Given the description of an element on the screen output the (x, y) to click on. 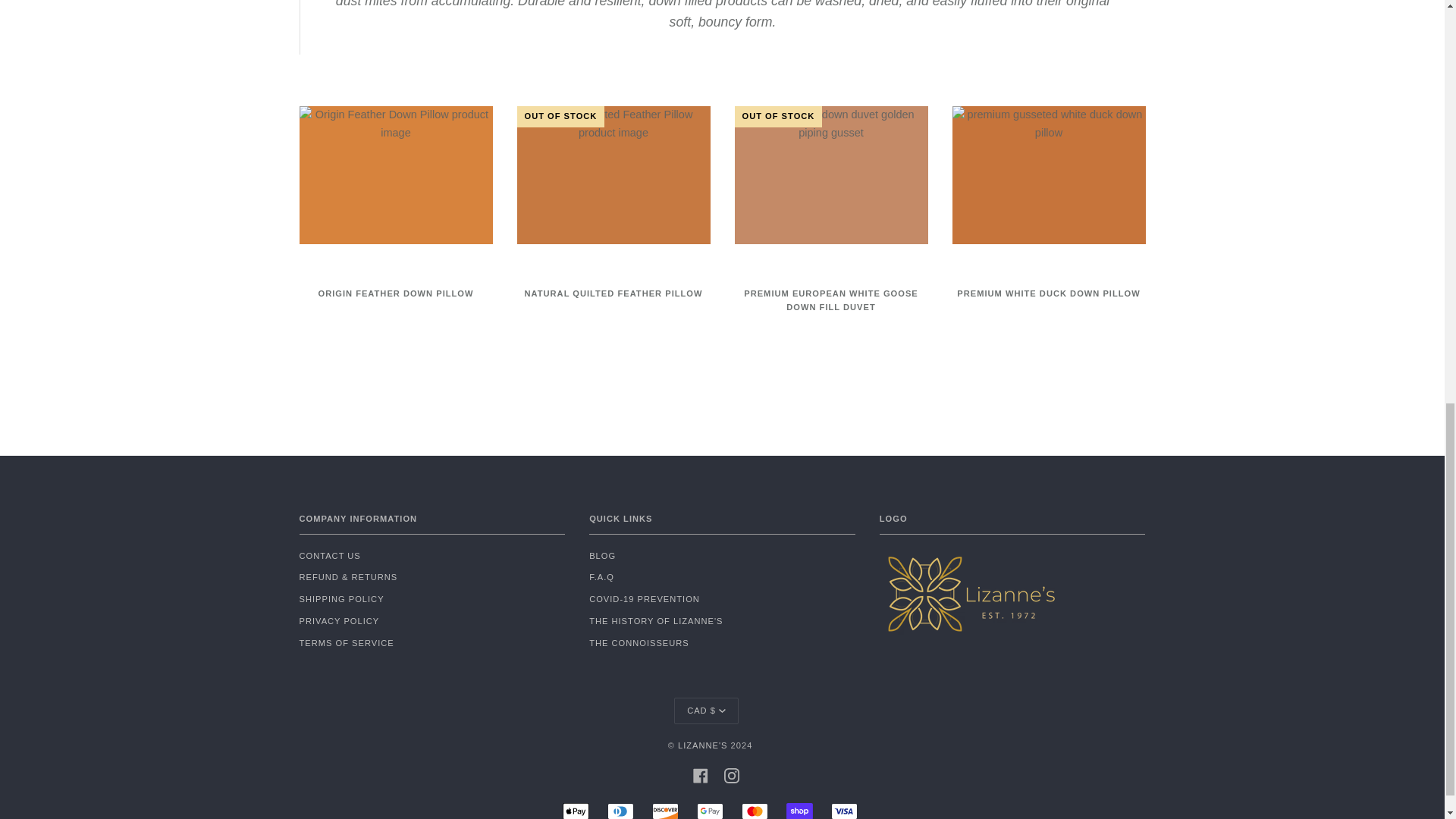
Facebook (700, 774)
GOOGLE PAY (710, 811)
APPLE PAY (575, 811)
DISCOVER (665, 811)
VISA (844, 811)
Instagram (731, 774)
DINERS CLUB (620, 811)
SHOP PAY (799, 811)
MASTERCARD (754, 811)
